Given the description of an element on the screen output the (x, y) to click on. 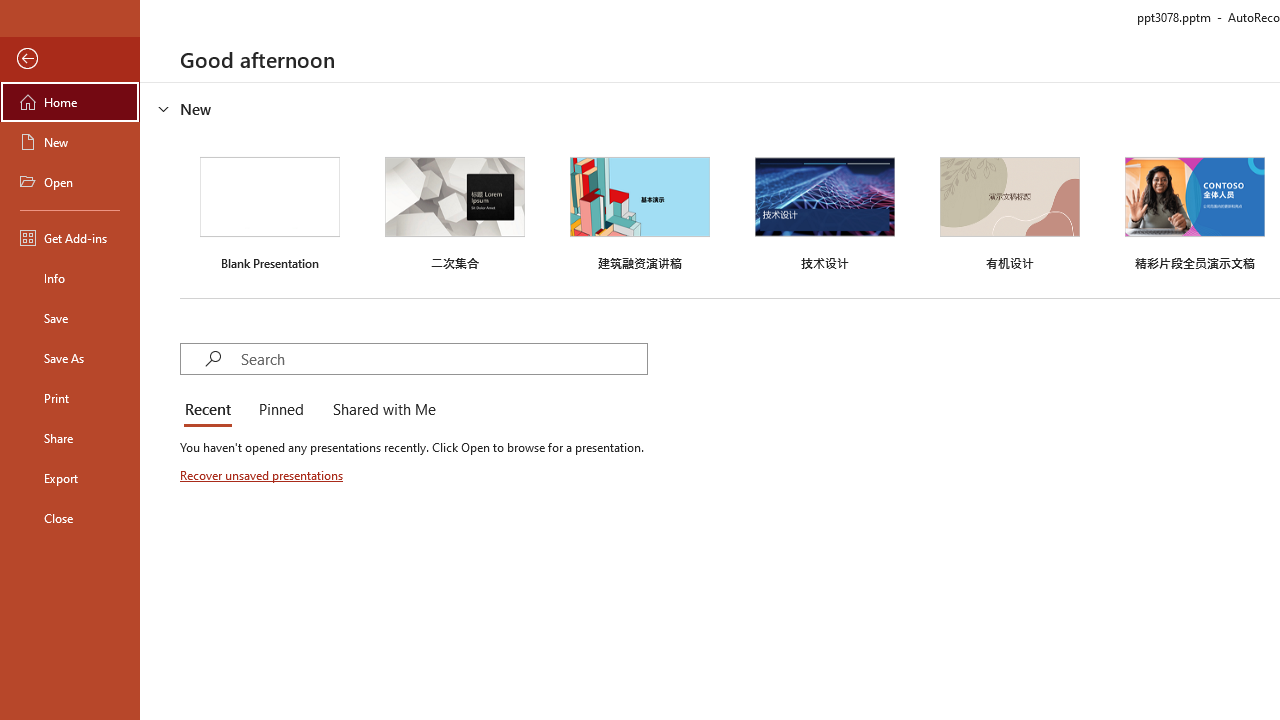
Get Add-ins (69, 237)
Export (69, 477)
Shared with Me (379, 410)
Hide or show region (164, 108)
Pinned (280, 410)
Recent (212, 410)
Recover unsaved presentations (263, 475)
Info (69, 277)
